Given the description of an element on the screen output the (x, y) to click on. 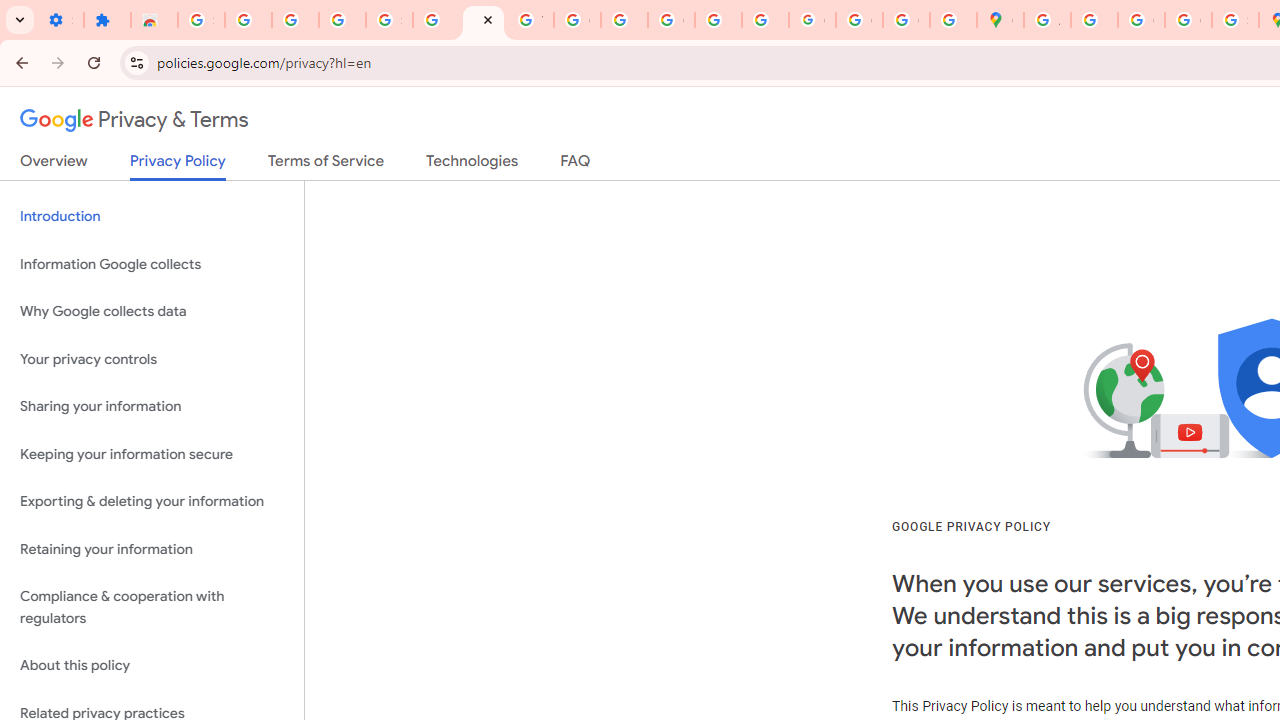
Sign in - Google Accounts (389, 20)
Keeping your information secure (152, 453)
Retaining your information (152, 548)
Google Maps (999, 20)
